Given the description of an element on the screen output the (x, y) to click on. 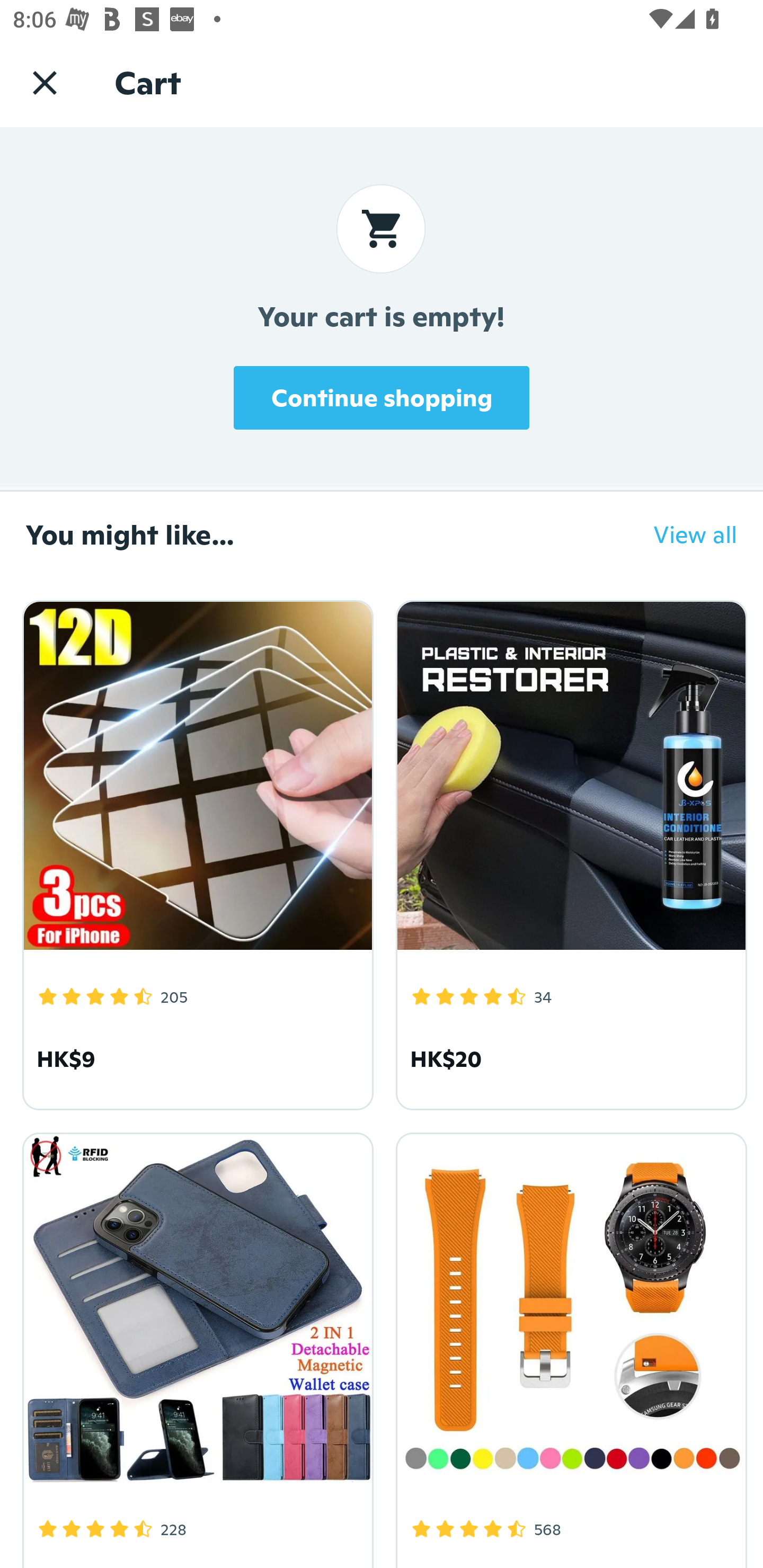
Navigate up (44, 82)
Continue shopping (381, 397)
View all (682, 534)
4.6 Star Rating 205 HK$9 (194, 852)
4.6 Star Rating 34 HK$20 (567, 852)
4.5 Star Rating 228 (194, 1346)
4.6 Star Rating 568 (567, 1346)
